Given the description of an element on the screen output the (x, y) to click on. 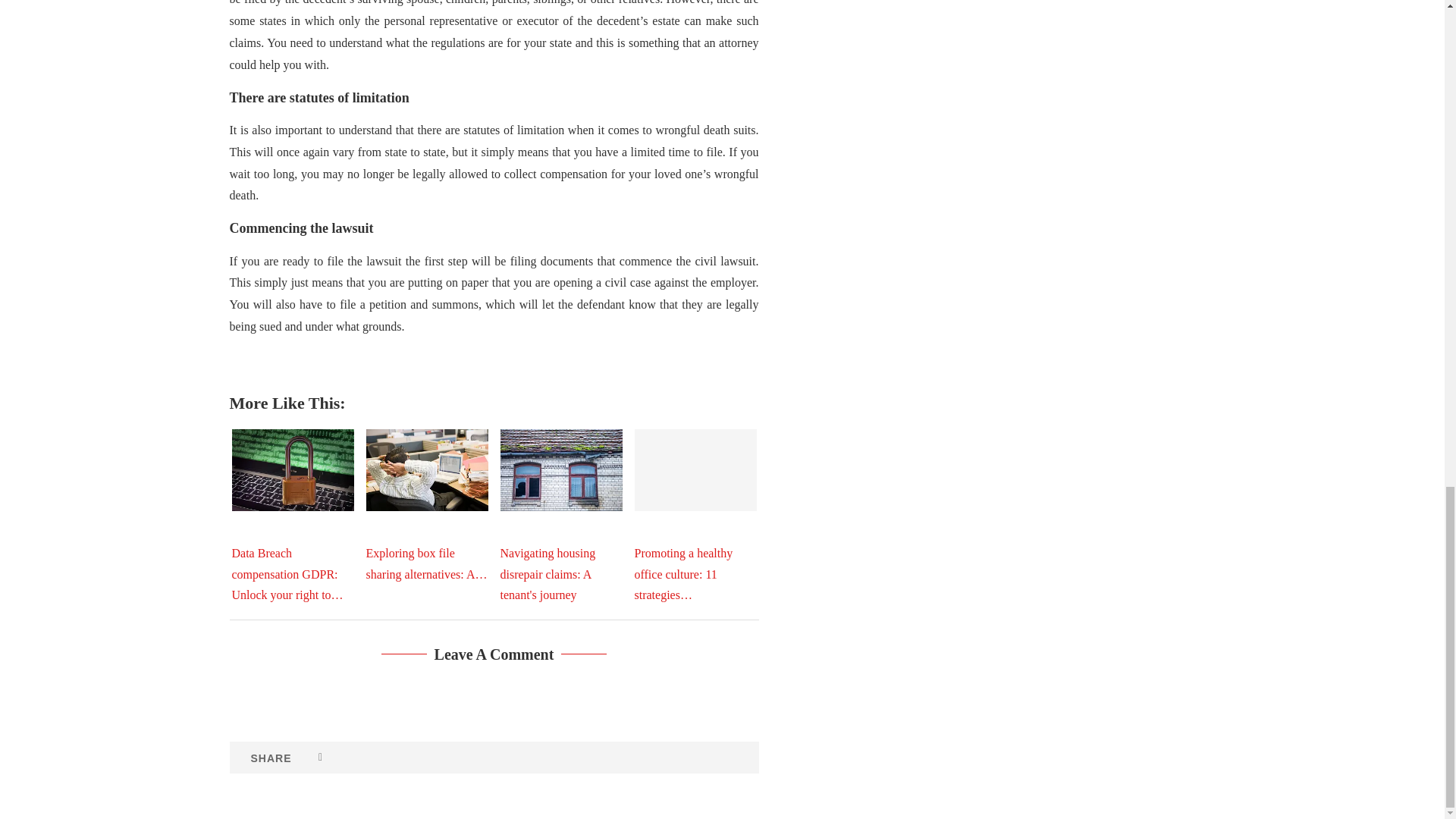
Navigating housing disrepair claims: A tenant's journey (561, 470)
